Given the description of an element on the screen output the (x, y) to click on. 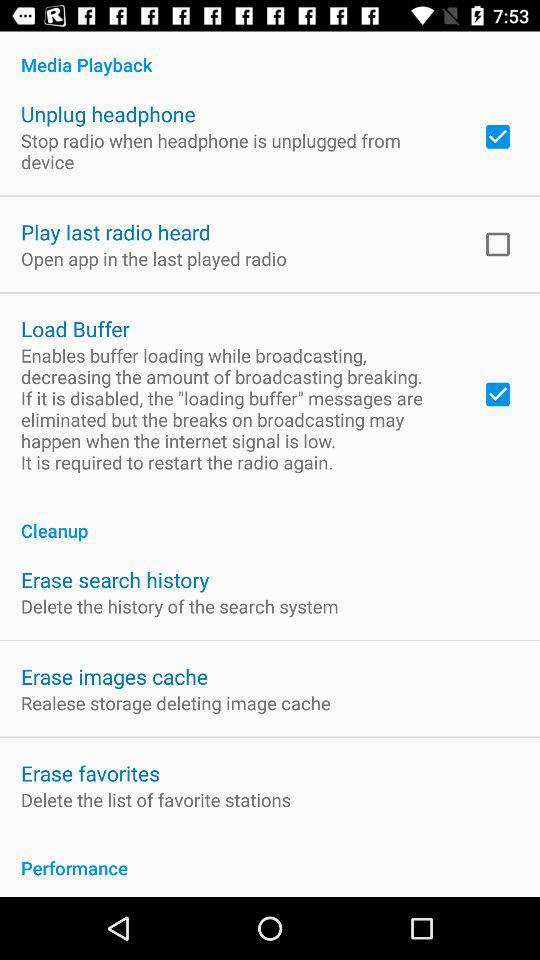
flip until load buffer (75, 328)
